Given the description of an element on the screen output the (x, y) to click on. 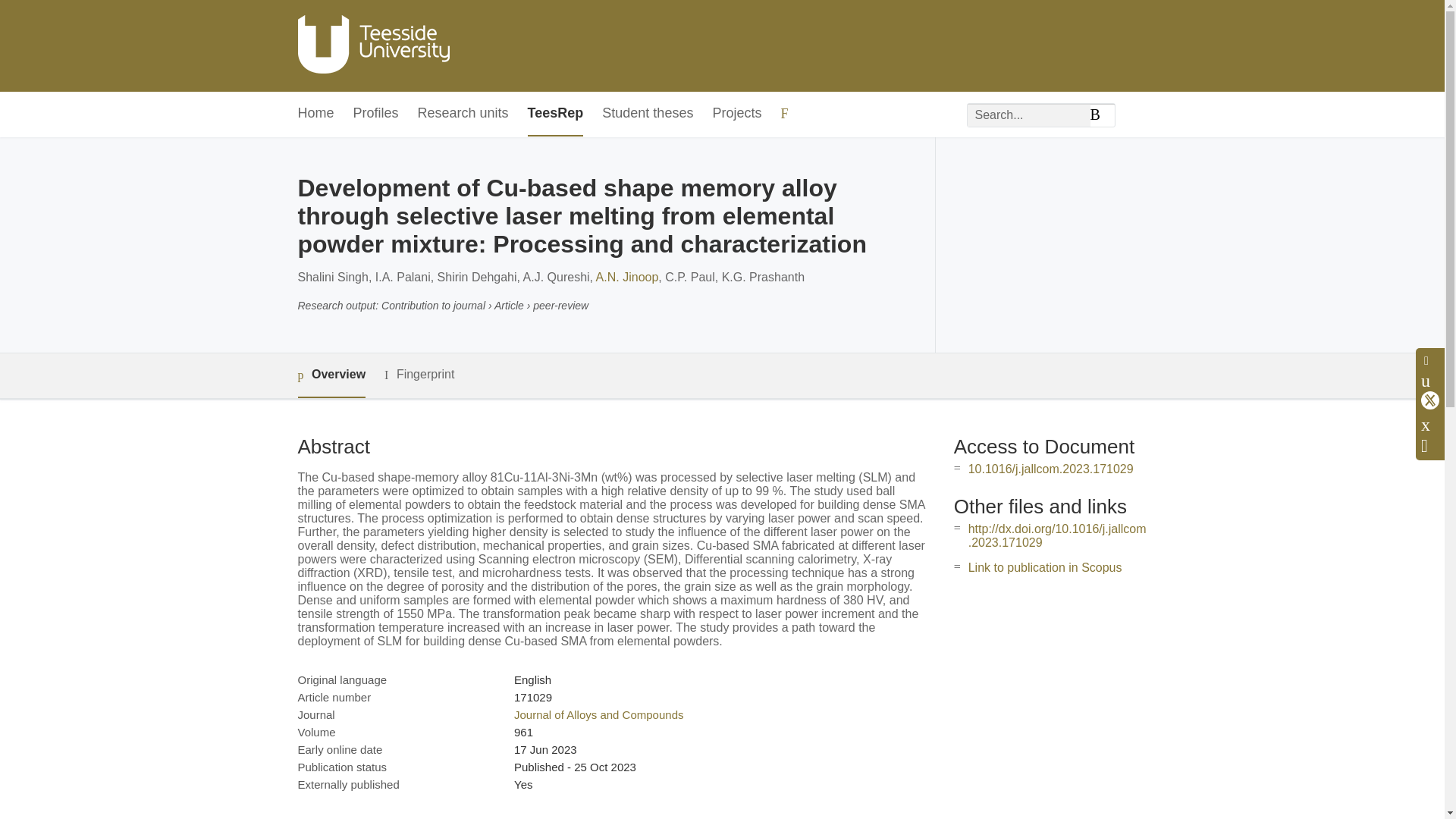
Research units (462, 113)
Profiles (375, 113)
Projects (736, 113)
Student theses (647, 113)
Overview (331, 375)
Fingerprint (419, 374)
Link to publication in Scopus (1045, 567)
Journal of Alloys and Compounds (597, 714)
A.N. Jinoop (627, 277)
Teesside University's Research Portal Home (372, 45)
TeesRep (555, 113)
